Given the description of an element on the screen output the (x, y) to click on. 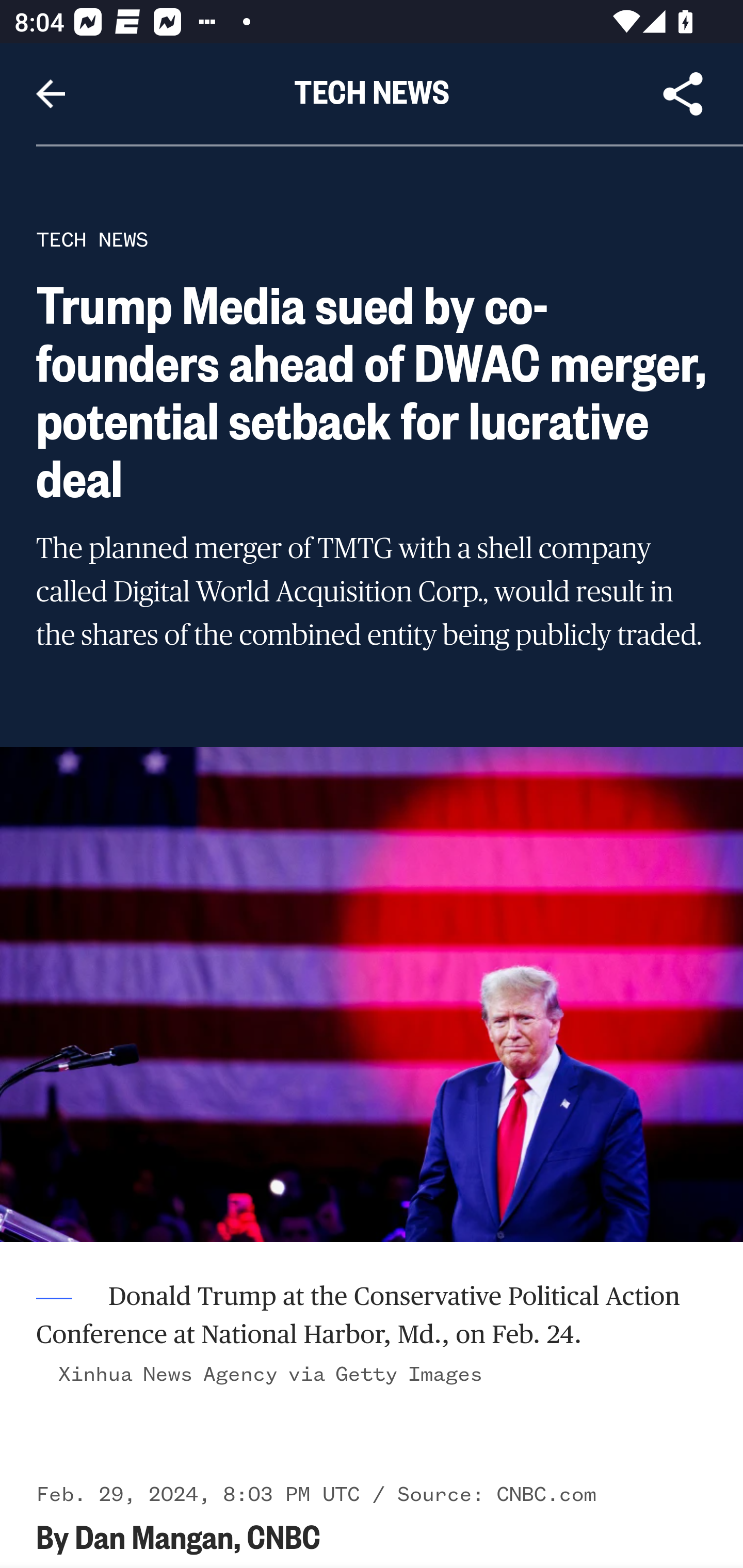
Navigate up (50, 93)
Share Article, button (683, 94)
TECH NEWS (91, 239)
